Given the description of an element on the screen output the (x, y) to click on. 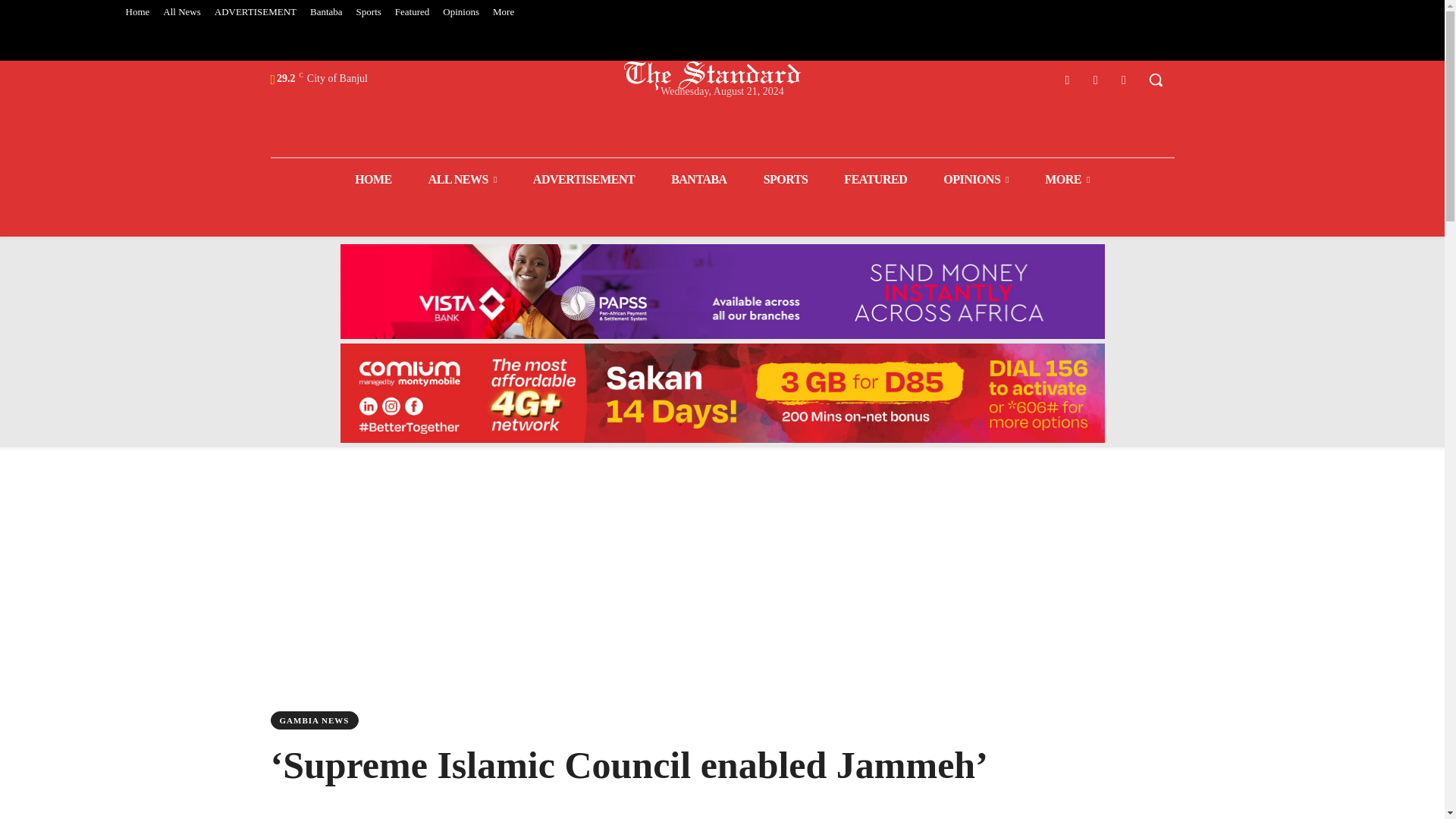
Featured (411, 12)
More (503, 12)
Sports (368, 12)
Opinions (460, 12)
Bantaba (325, 12)
ALL NEWS (462, 178)
All News (180, 12)
Youtube (1123, 79)
Twitter (1094, 79)
ADVERTISEMENT (255, 12)
